Given the description of an element on the screen output the (x, y) to click on. 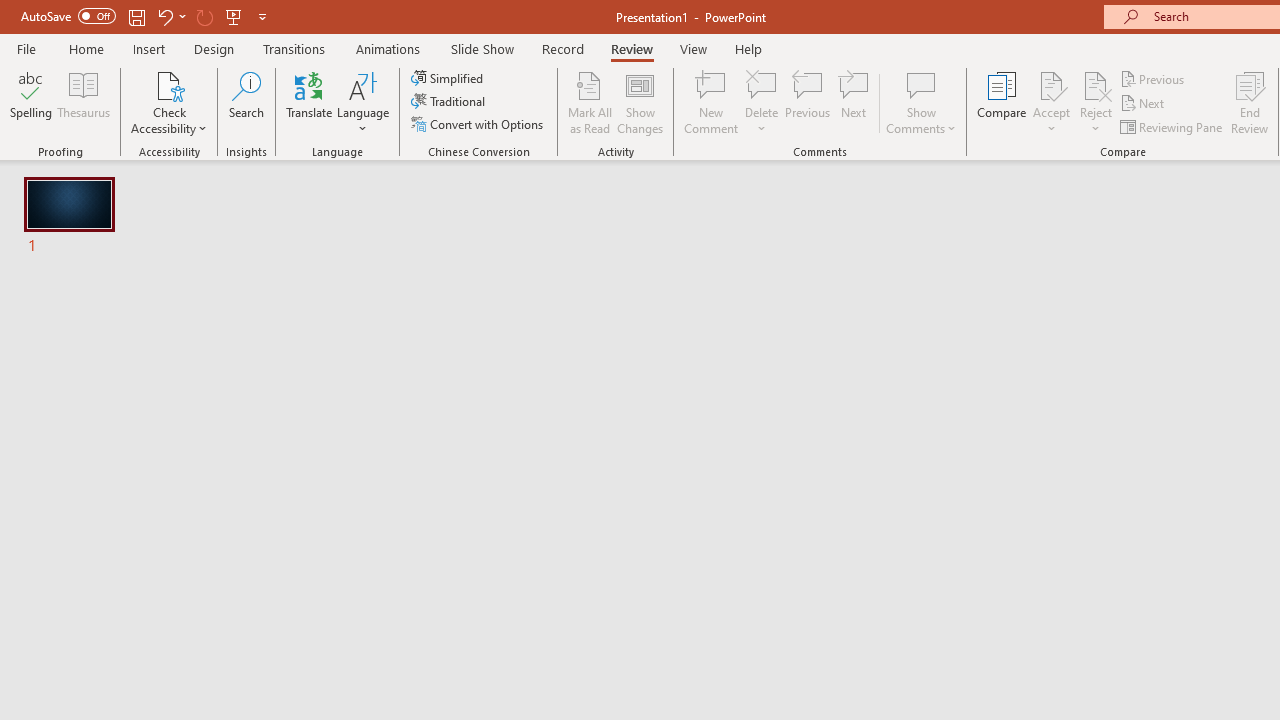
Accept (1051, 102)
New Comment (711, 102)
Reviewing Pane (1172, 126)
